Given the description of an element on the screen output the (x, y) to click on. 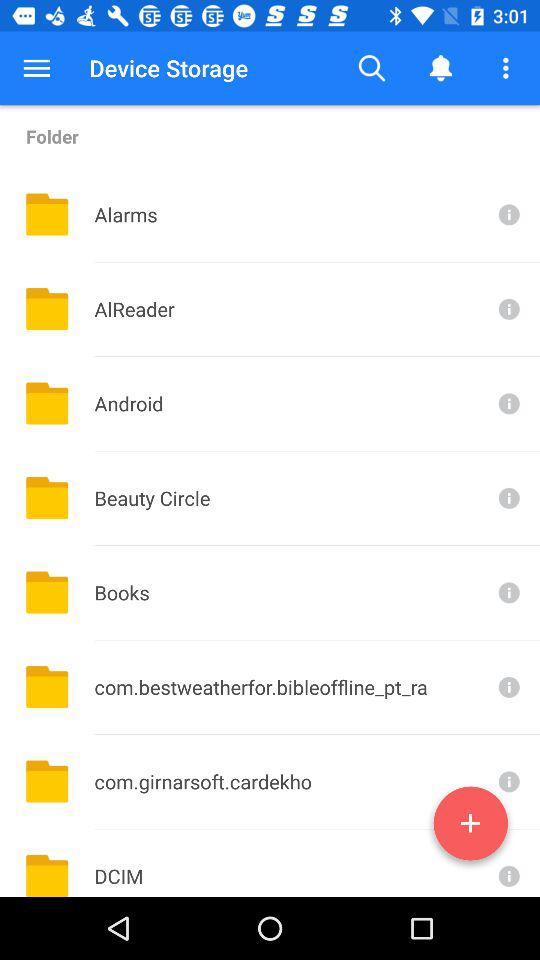
add new (470, 827)
